Given the description of an element on the screen output the (x, y) to click on. 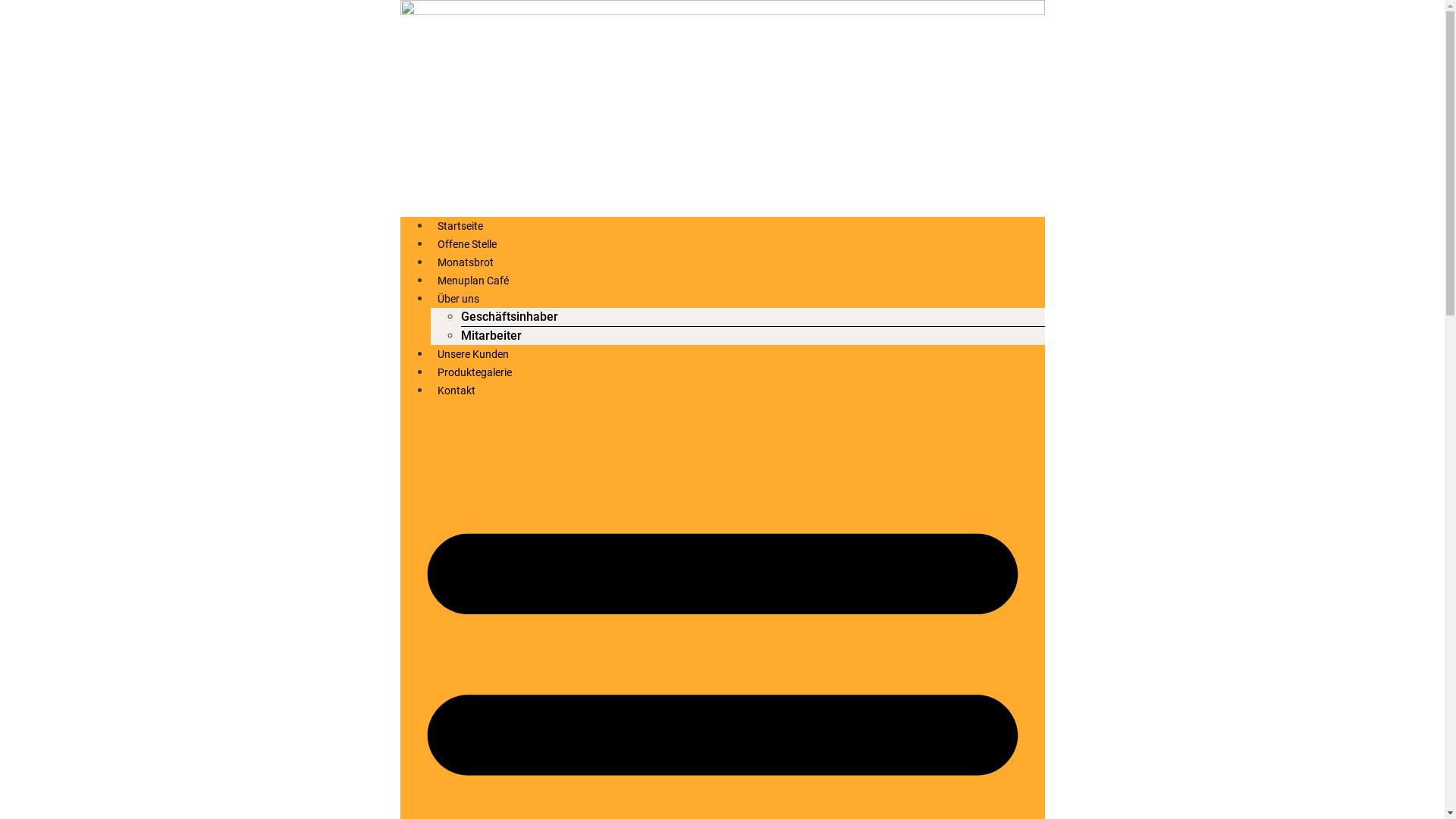
Produktegalerie Element type: text (474, 371)
Monatsbrot Element type: text (465, 262)
Kontakt Element type: text (456, 390)
Unsere Kunden Element type: text (472, 353)
Startseite Element type: text (459, 225)
Offene Stelle Element type: text (466, 243)
Mitarbeiter Element type: text (491, 335)
